Given the description of an element on the screen output the (x, y) to click on. 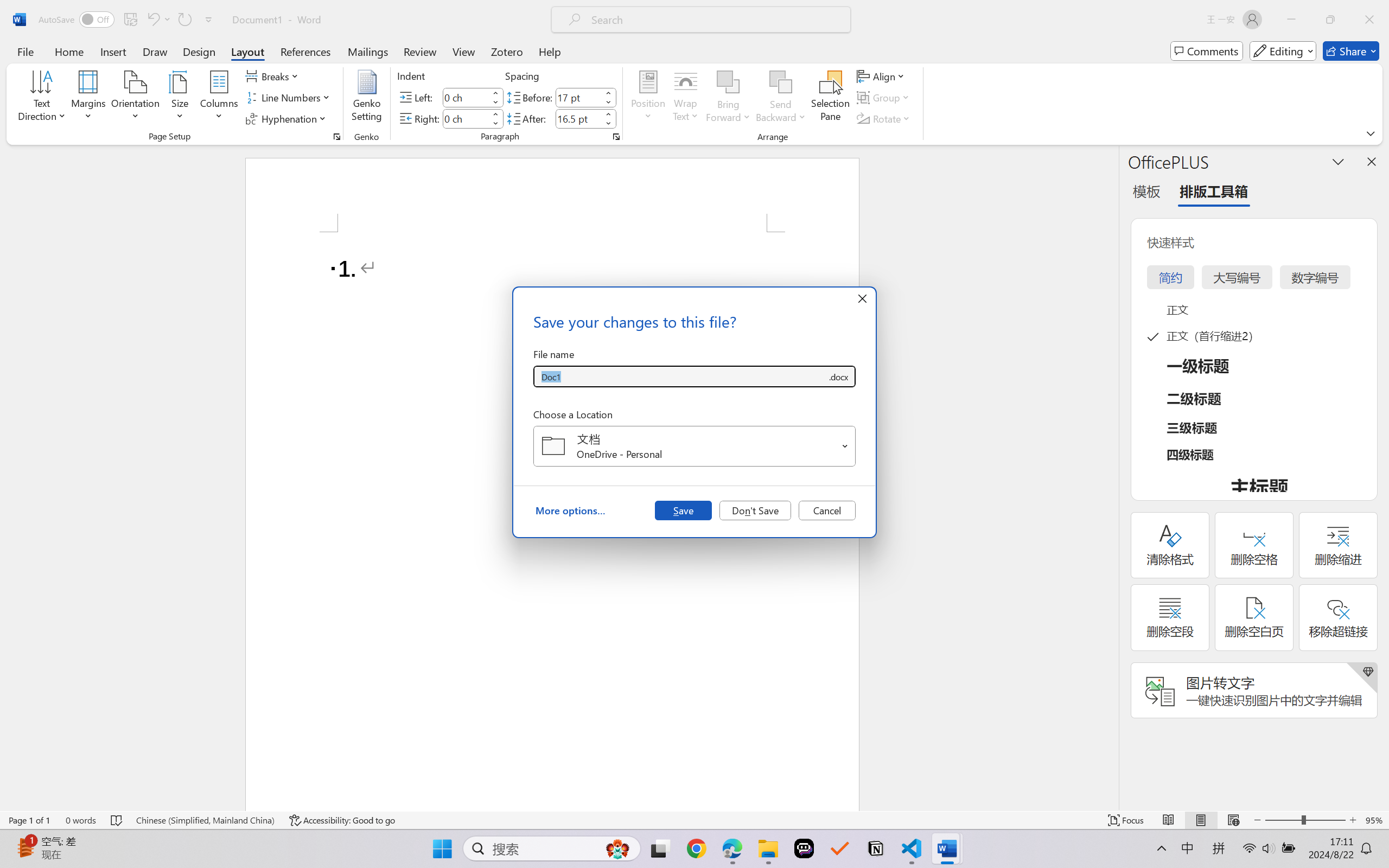
Indent Left (465, 96)
Align (881, 75)
Send Backward (781, 81)
Breaks (273, 75)
Wrap Text (685, 97)
